Given the description of an element on the screen output the (x, y) to click on. 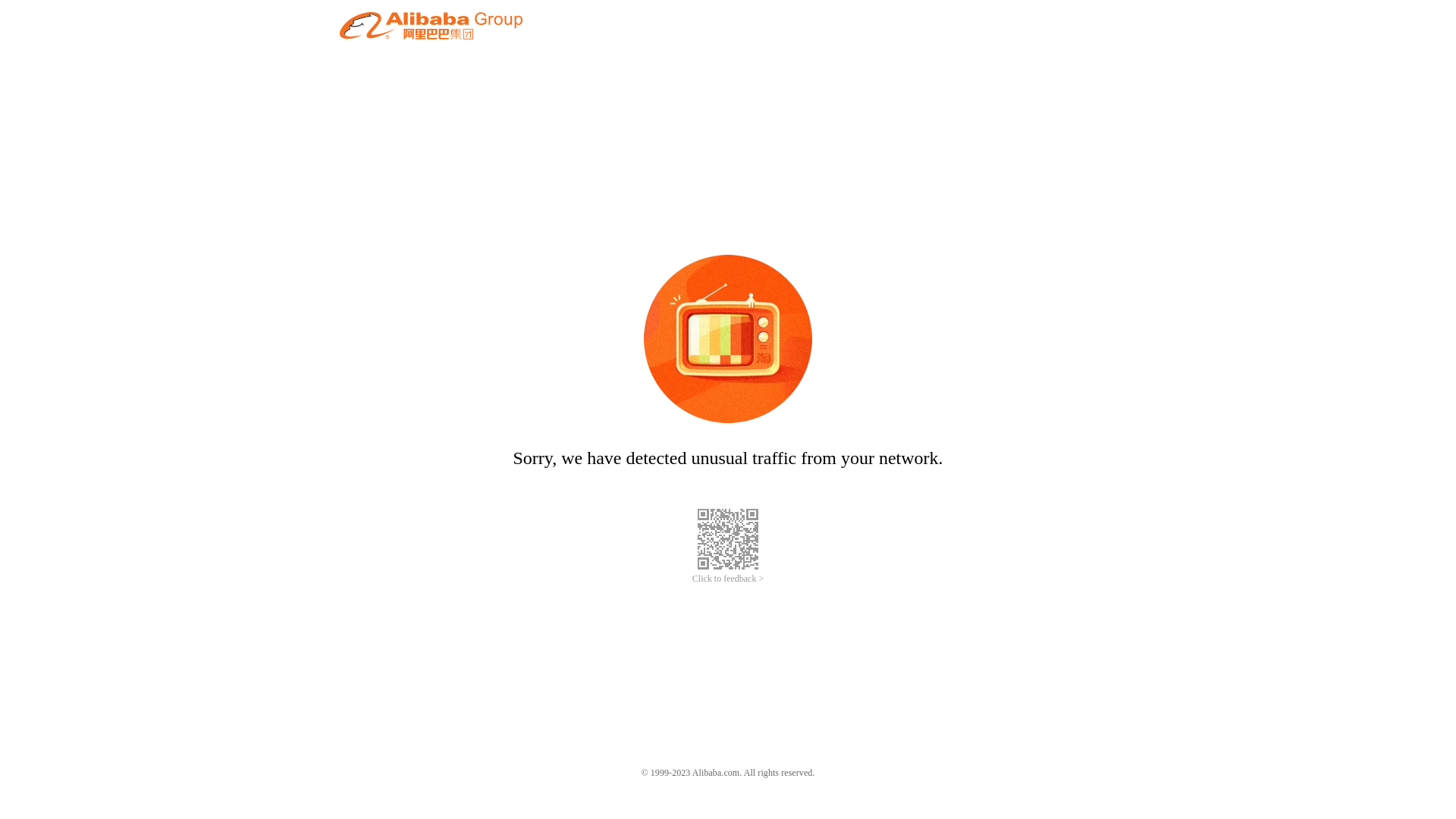
Click to feedback > Element type: text (727, 578)
